Given the description of an element on the screen output the (x, y) to click on. 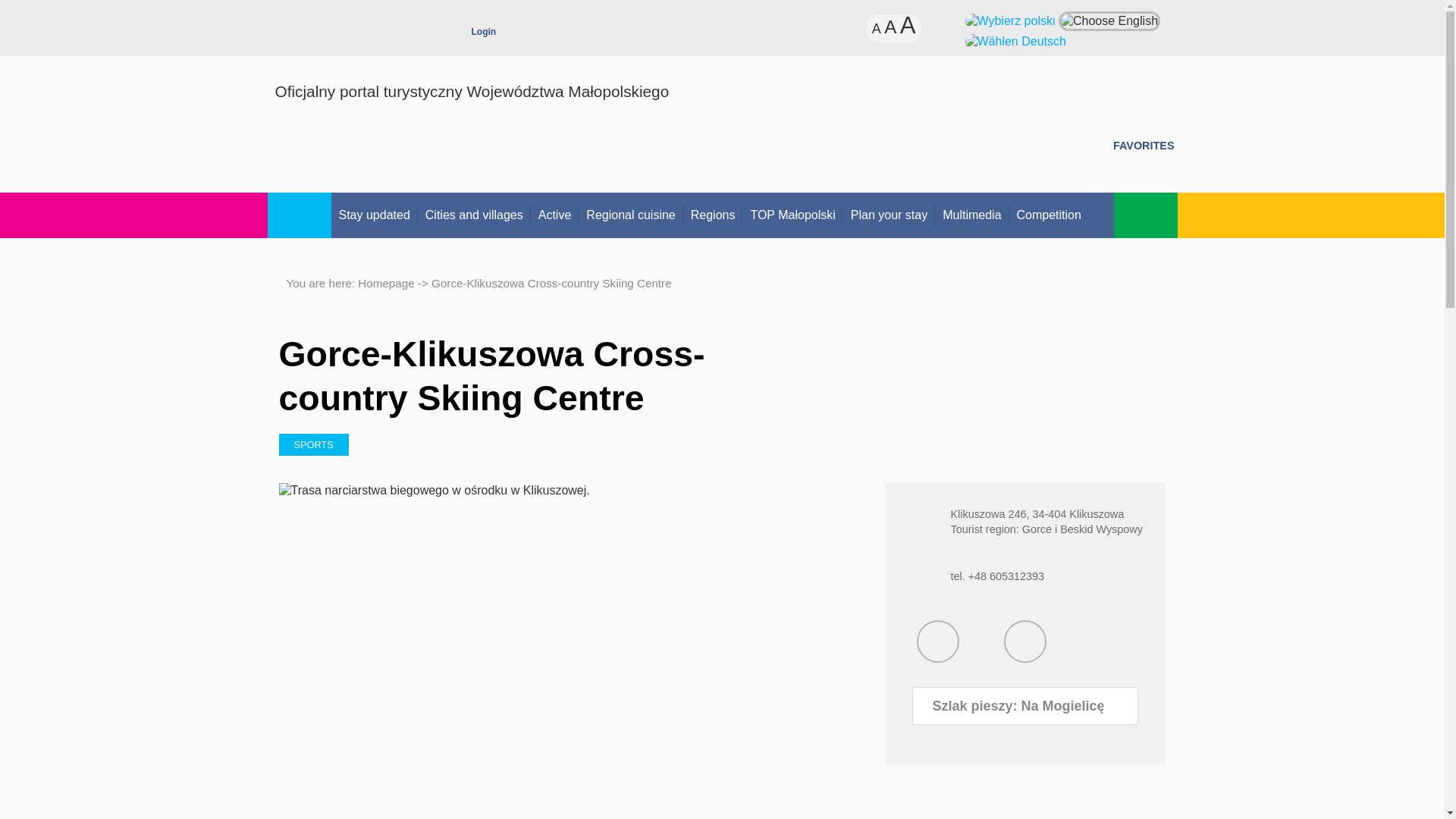
FAVORITES (1143, 138)
Show details (1025, 640)
Stay updated (373, 215)
polski (1008, 19)
Login (483, 35)
Cities and villages (474, 215)
Active (555, 215)
Deutsch (1014, 40)
